Given the description of an element on the screen output the (x, y) to click on. 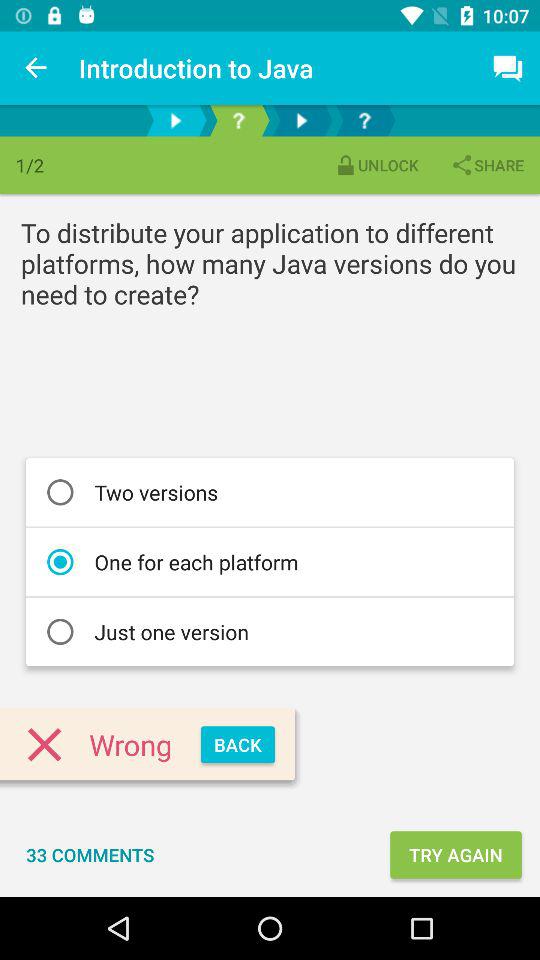
see why the answer is wrong (238, 120)
